Given the description of an element on the screen output the (x, y) to click on. 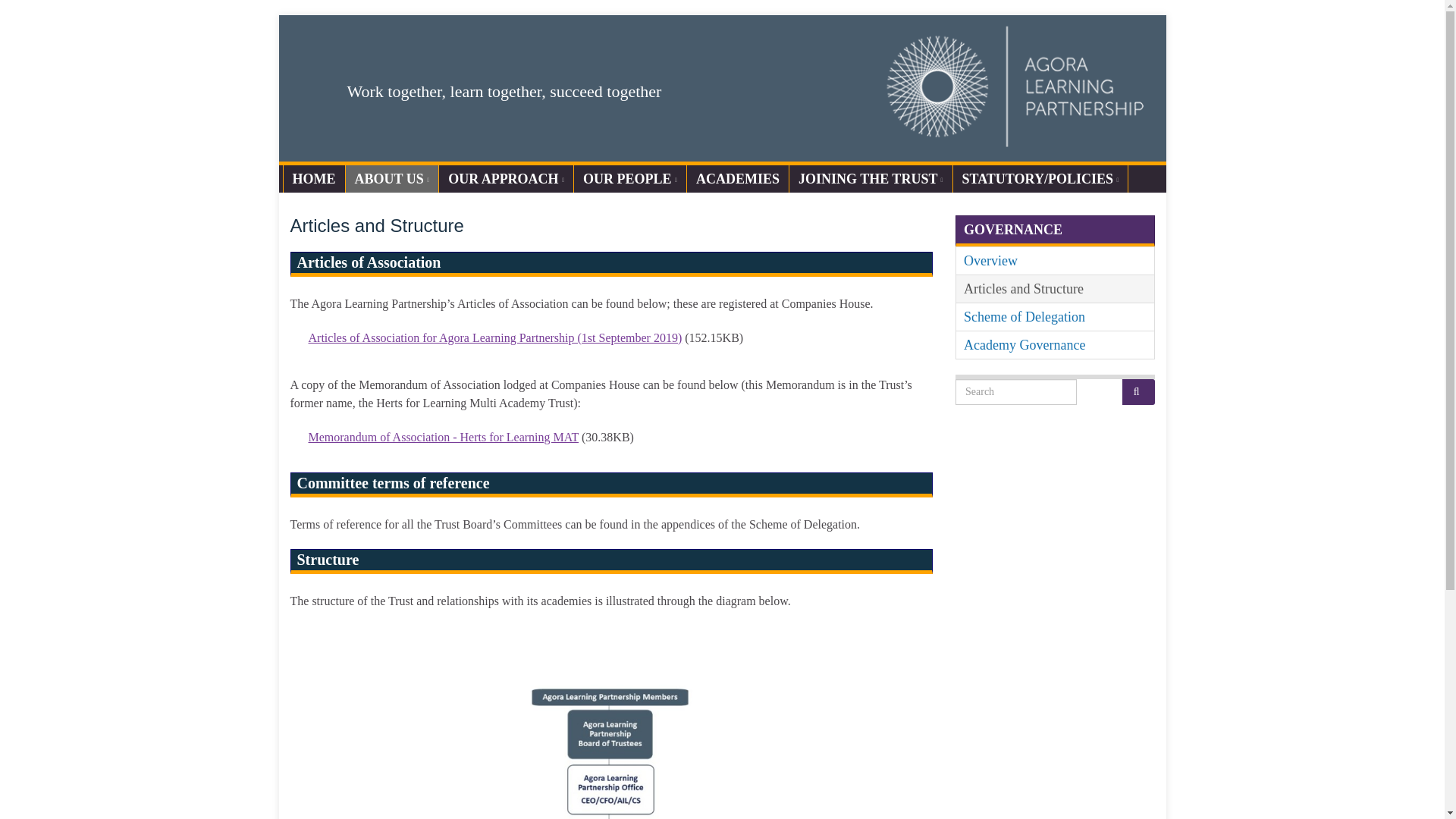
JOINING THE TRUST (870, 178)
HOME (314, 178)
OUR APPROACH (506, 178)
ACADEMIES (738, 178)
ABOUT US (392, 178)
OUR PEOPLE (629, 178)
Agora Learning Partnership (722, 88)
